Given the description of an element on the screen output the (x, y) to click on. 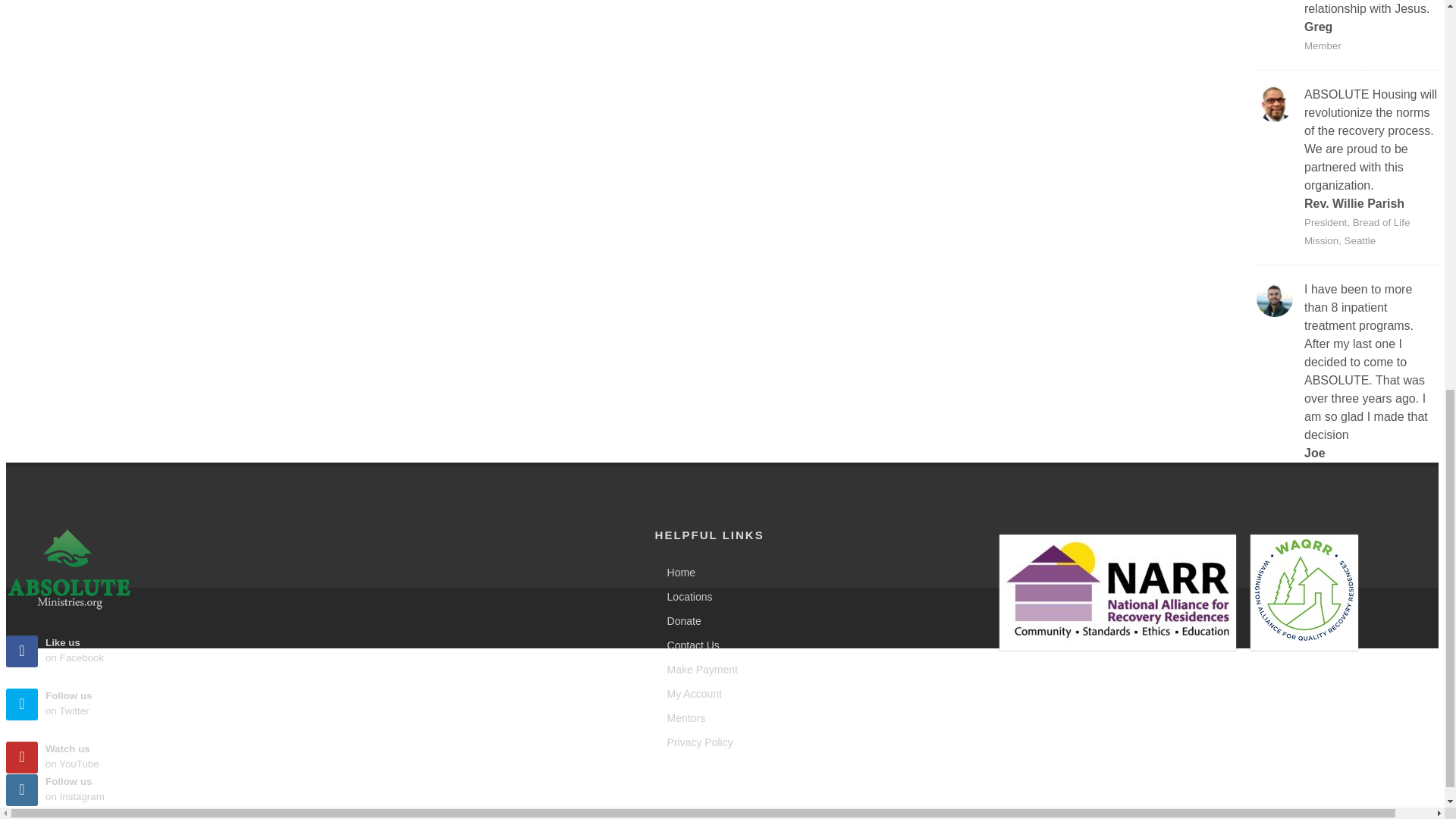
Home (677, 571)
Contact Us (690, 644)
Donate (311, 650)
Locations (311, 703)
